Given the description of an element on the screen output the (x, y) to click on. 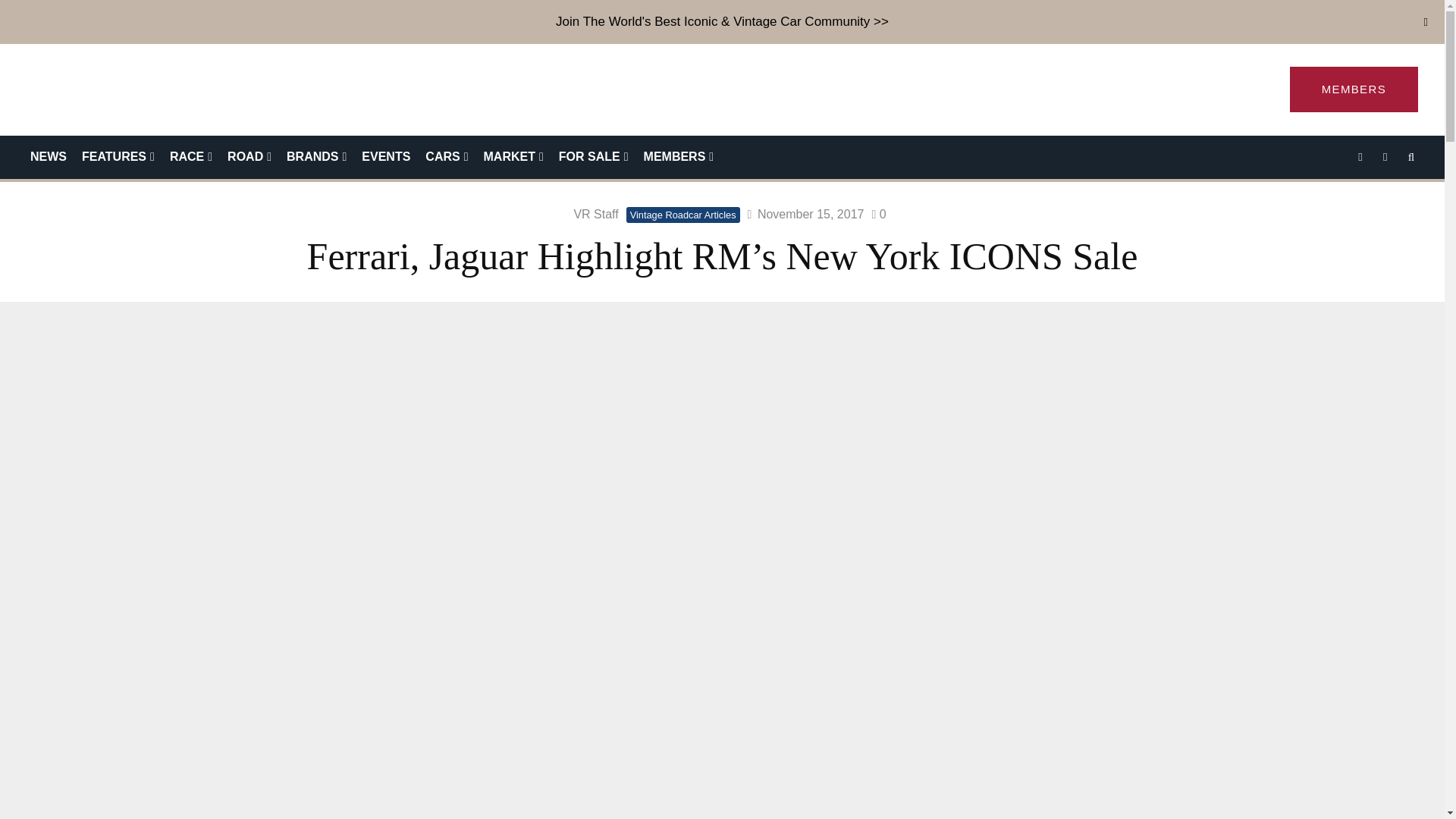
FEATURES (117, 157)
MEMBERS (1354, 89)
RACE (190, 157)
NEWS (48, 157)
